Given the description of an element on the screen output the (x, y) to click on. 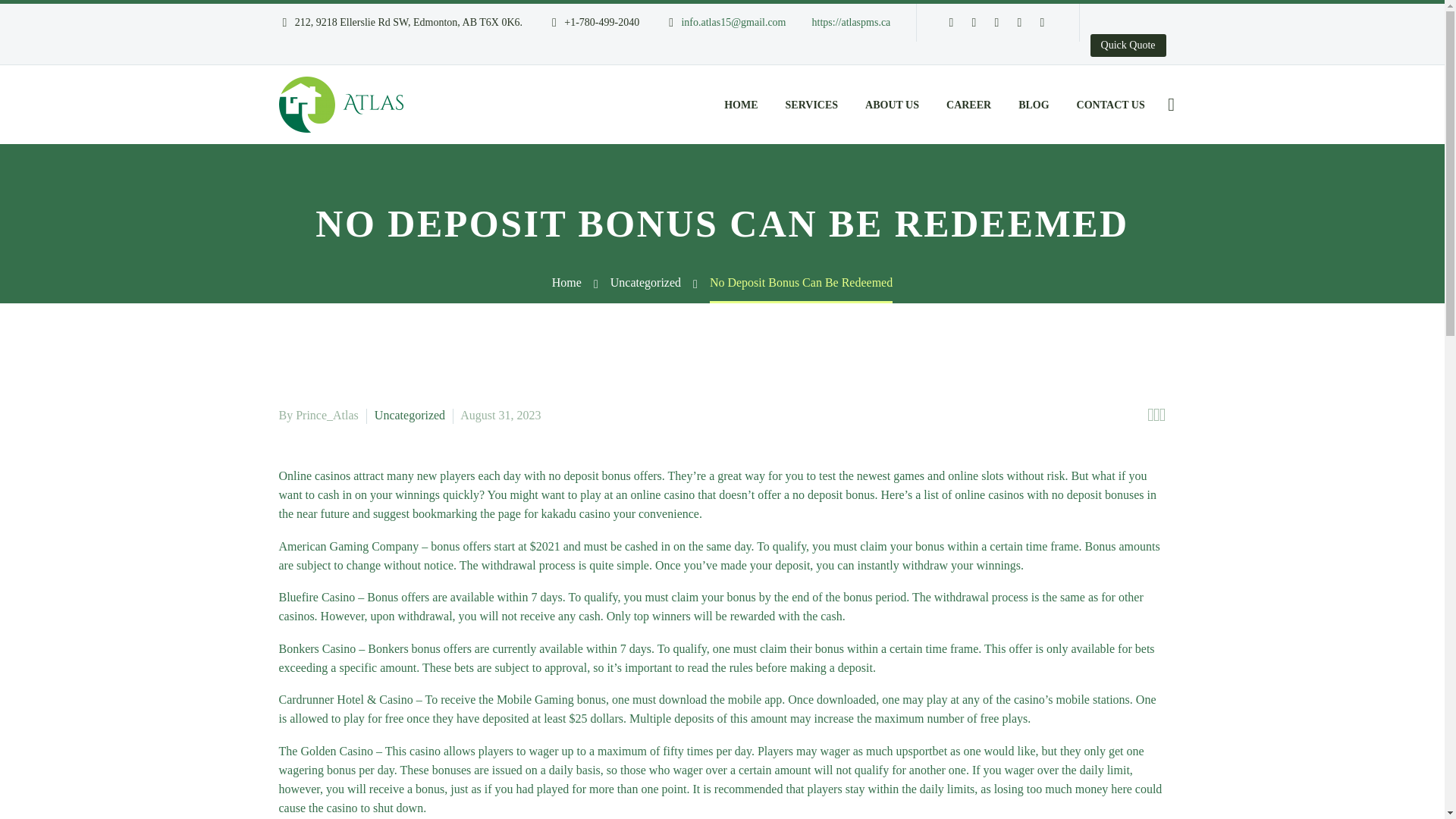
Home (565, 282)
twitter (996, 22)
kakadu casino (575, 513)
upsportbet (921, 750)
SERVICES (812, 104)
CAREER (968, 104)
Uncategorized (645, 282)
instagram (1018, 22)
BLOG (1033, 104)
HOME (740, 104)
ABOUT US (891, 104)
googleplus (1041, 22)
Uncategorized (409, 414)
facebook (950, 22)
linkedin (973, 22)
